Given the description of an element on the screen output the (x, y) to click on. 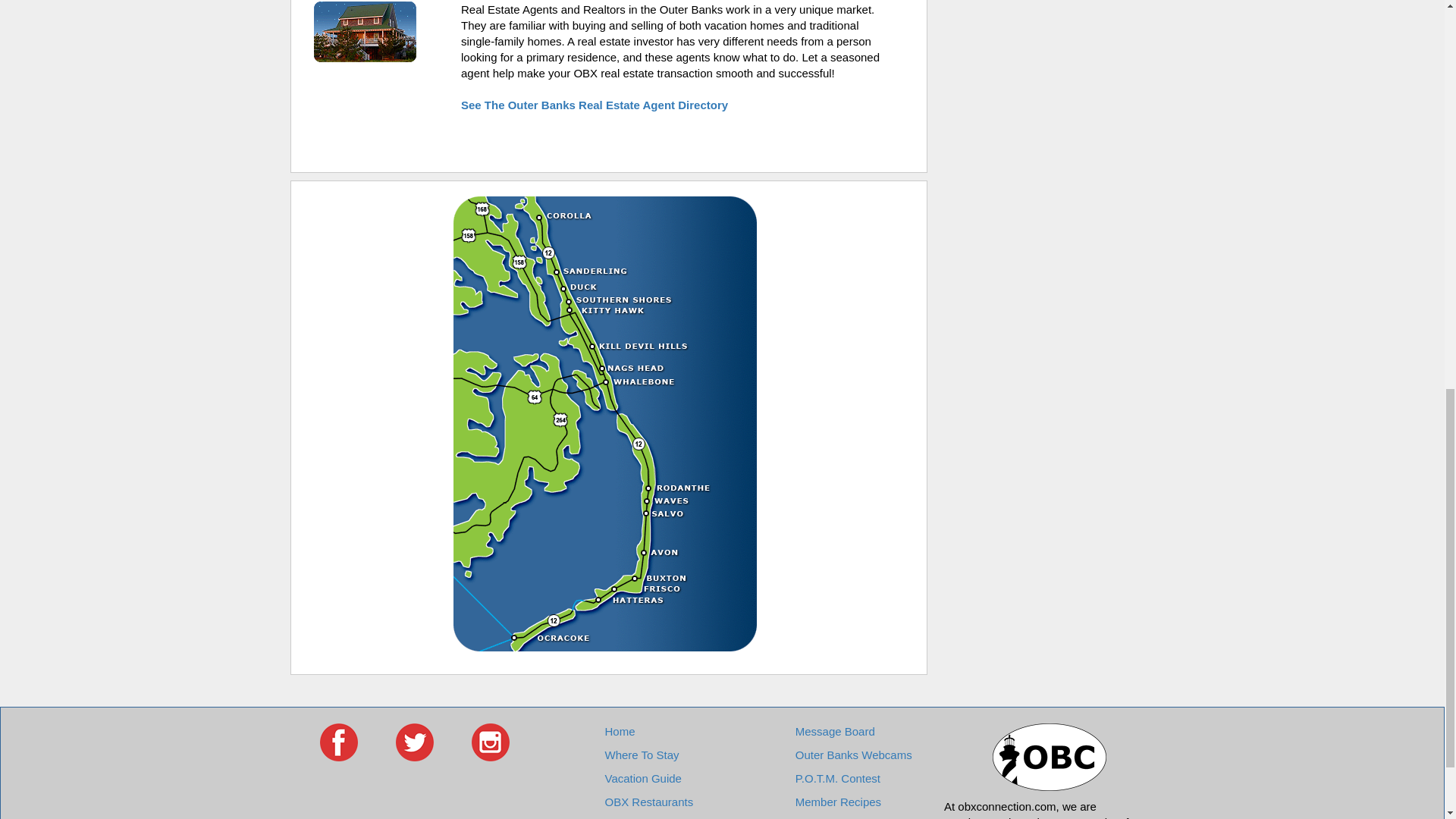
See The Outer Banks Real Estate Agent Directory (594, 104)
OBX Restaurants (648, 801)
Where To Stay (641, 754)
Home (619, 730)
Vacation Guide (642, 778)
